Given the description of an element on the screen output the (x, y) to click on. 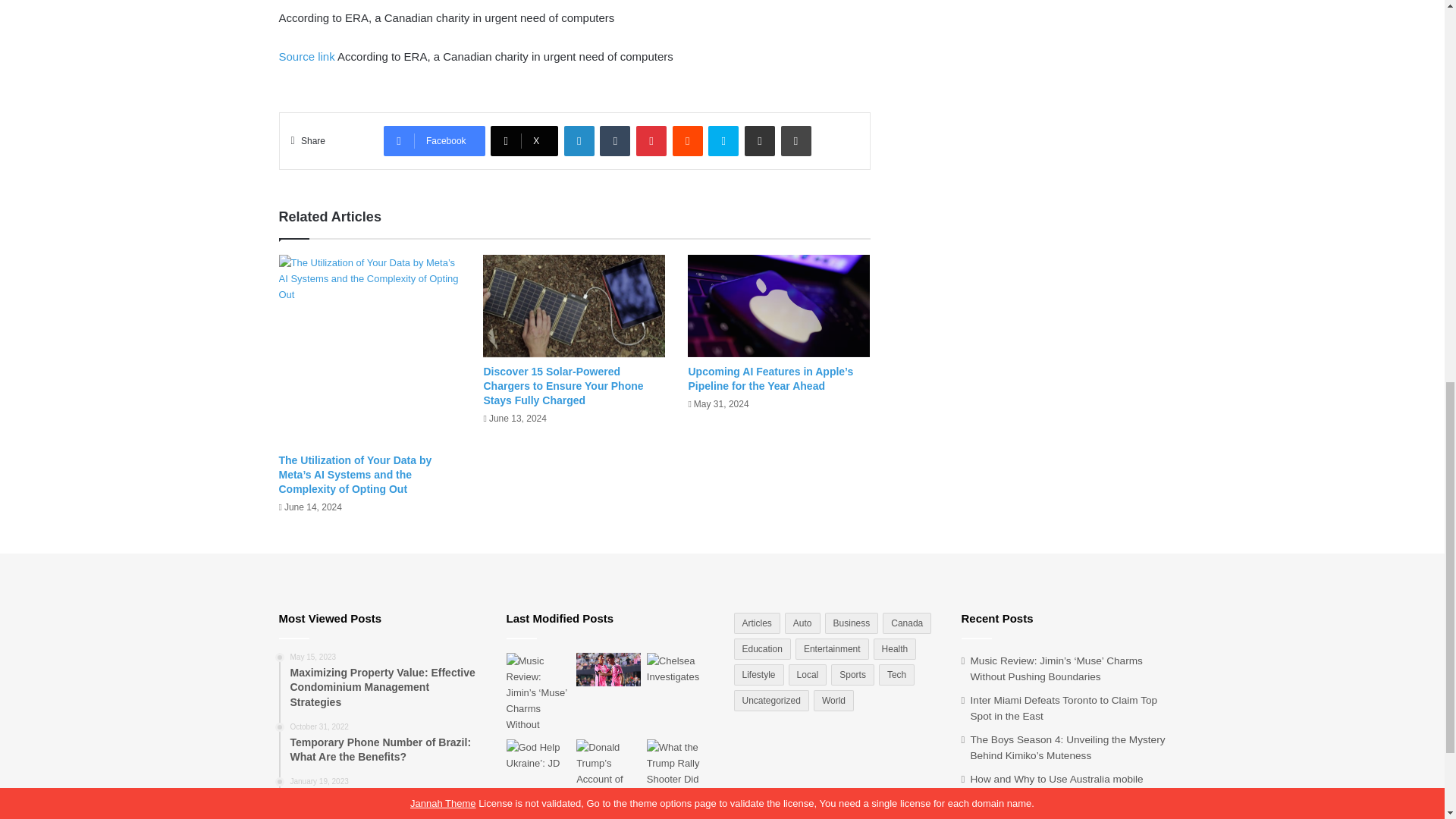
Source link (308, 56)
Pinterest (651, 141)
Facebook (434, 141)
Skype (722, 141)
Facebook (434, 141)
X (523, 141)
Share via Email (759, 141)
Share via Email (759, 141)
X (523, 141)
Print (795, 141)
LinkedIn (579, 141)
Skype (722, 141)
Reddit (687, 141)
Reddit (687, 141)
Print (795, 141)
